Given the description of an element on the screen output the (x, y) to click on. 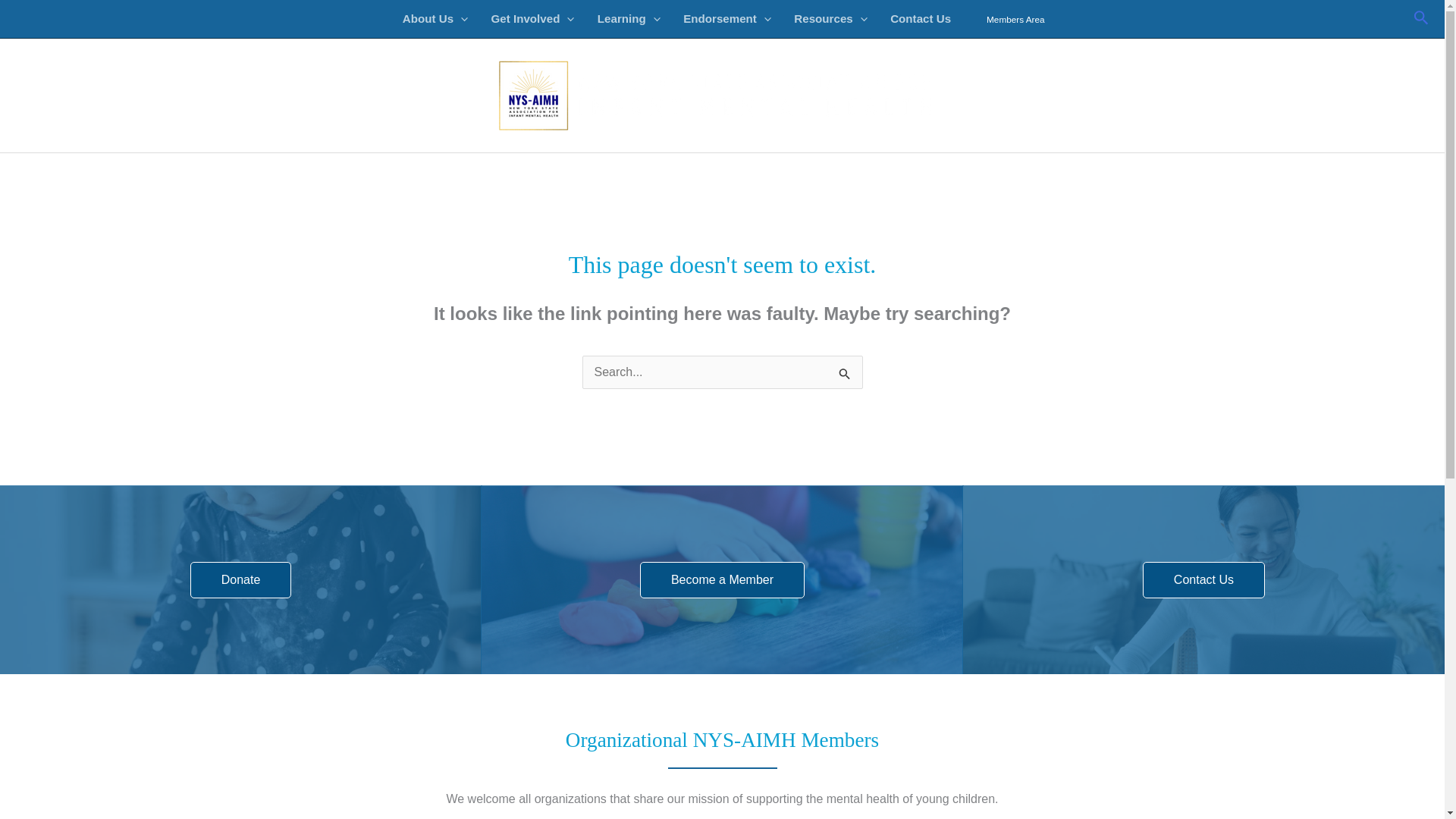
Endorsement (727, 18)
Learning (628, 18)
About Us (435, 18)
Get Involved (532, 18)
